Given the description of an element on the screen output the (x, y) to click on. 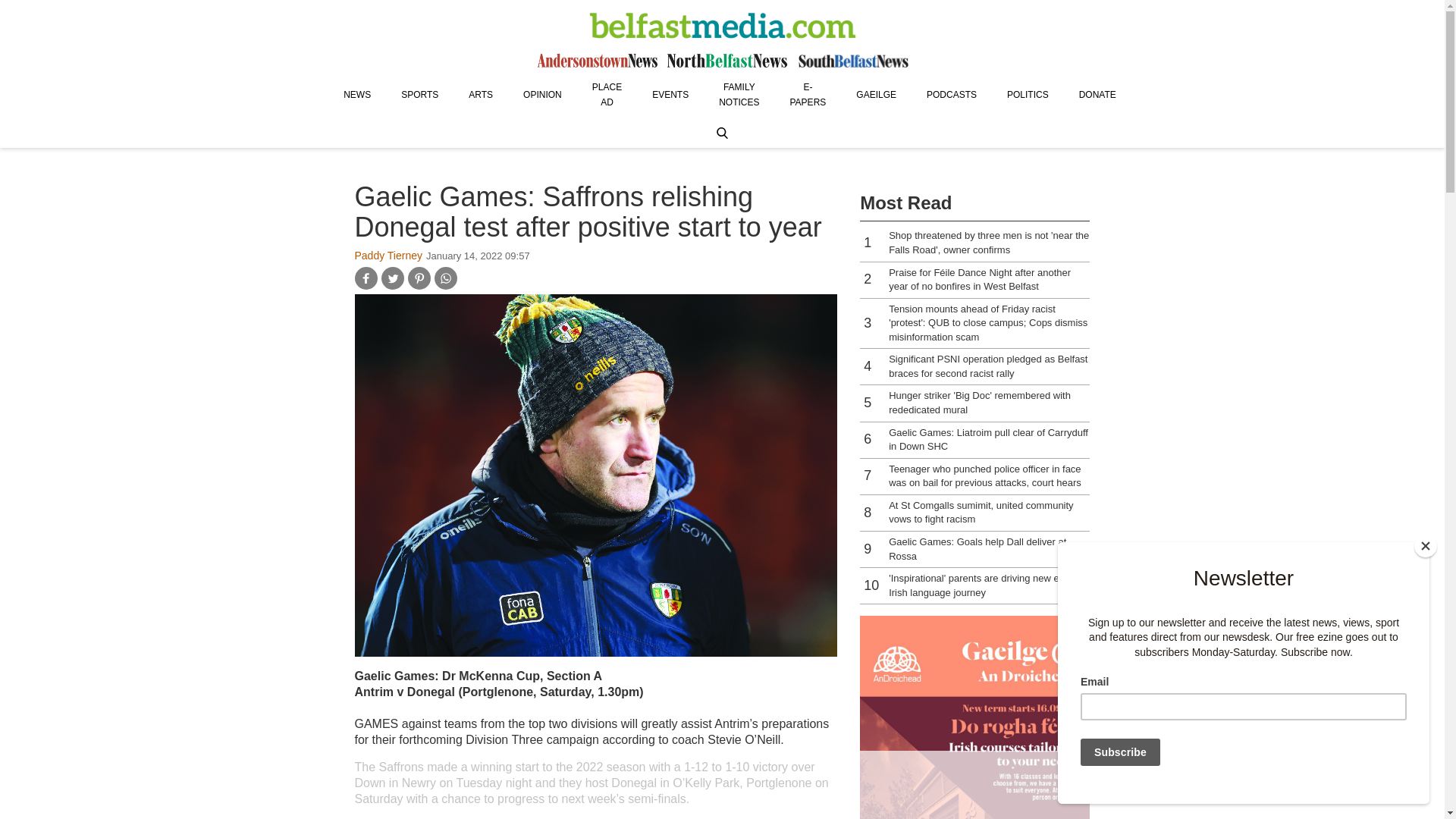
OPINION (542, 94)
SPORTS (418, 94)
NEWS (357, 94)
ARTS (480, 94)
